Given the description of an element on the screen output the (x, y) to click on. 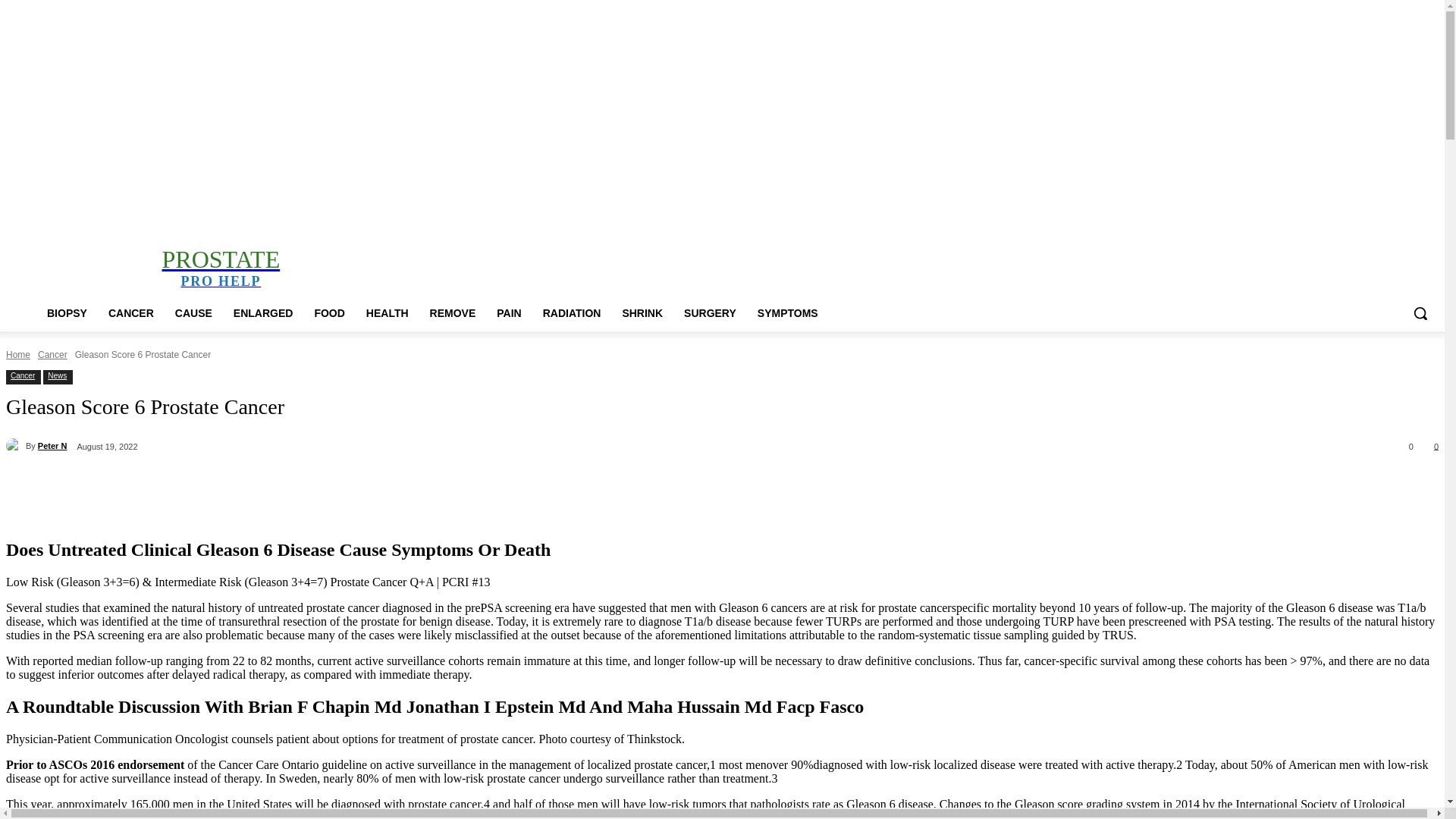
Health (346, 214)
Vimeo (1407, 214)
View all posts in Cancer (51, 354)
Radiation (459, 214)
Biopsy (157, 214)
Instagram (1366, 214)
Surgery (540, 214)
Facebook (1345, 214)
Shrink (501, 214)
Cancer (196, 214)
Remove (386, 214)
Cause (234, 214)
Peter N (15, 445)
Enlarged (274, 214)
Symptoms (587, 214)
